Given the description of an element on the screen output the (x, y) to click on. 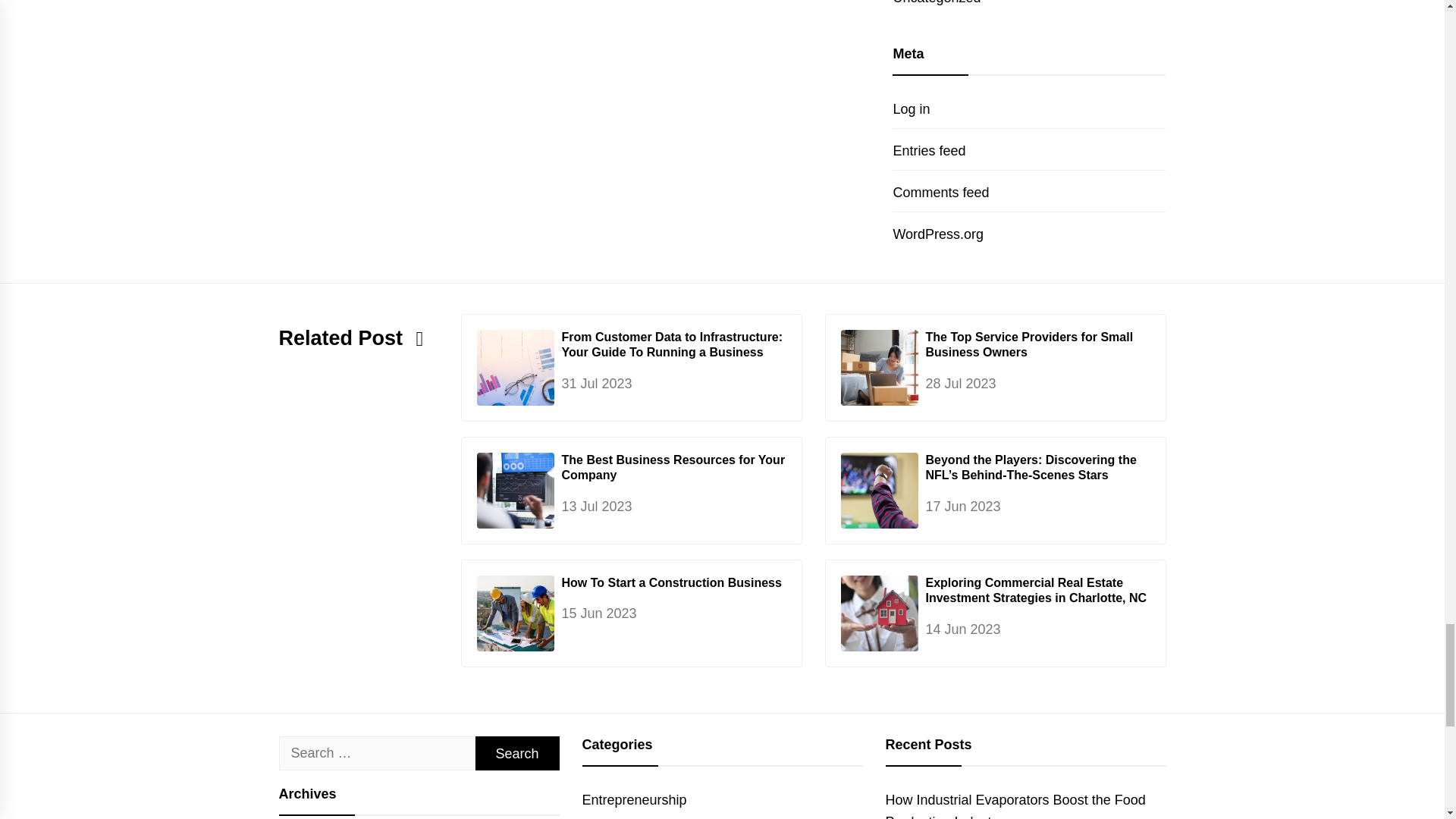
Search (516, 753)
Search (516, 753)
